Given the description of an element on the screen output the (x, y) to click on. 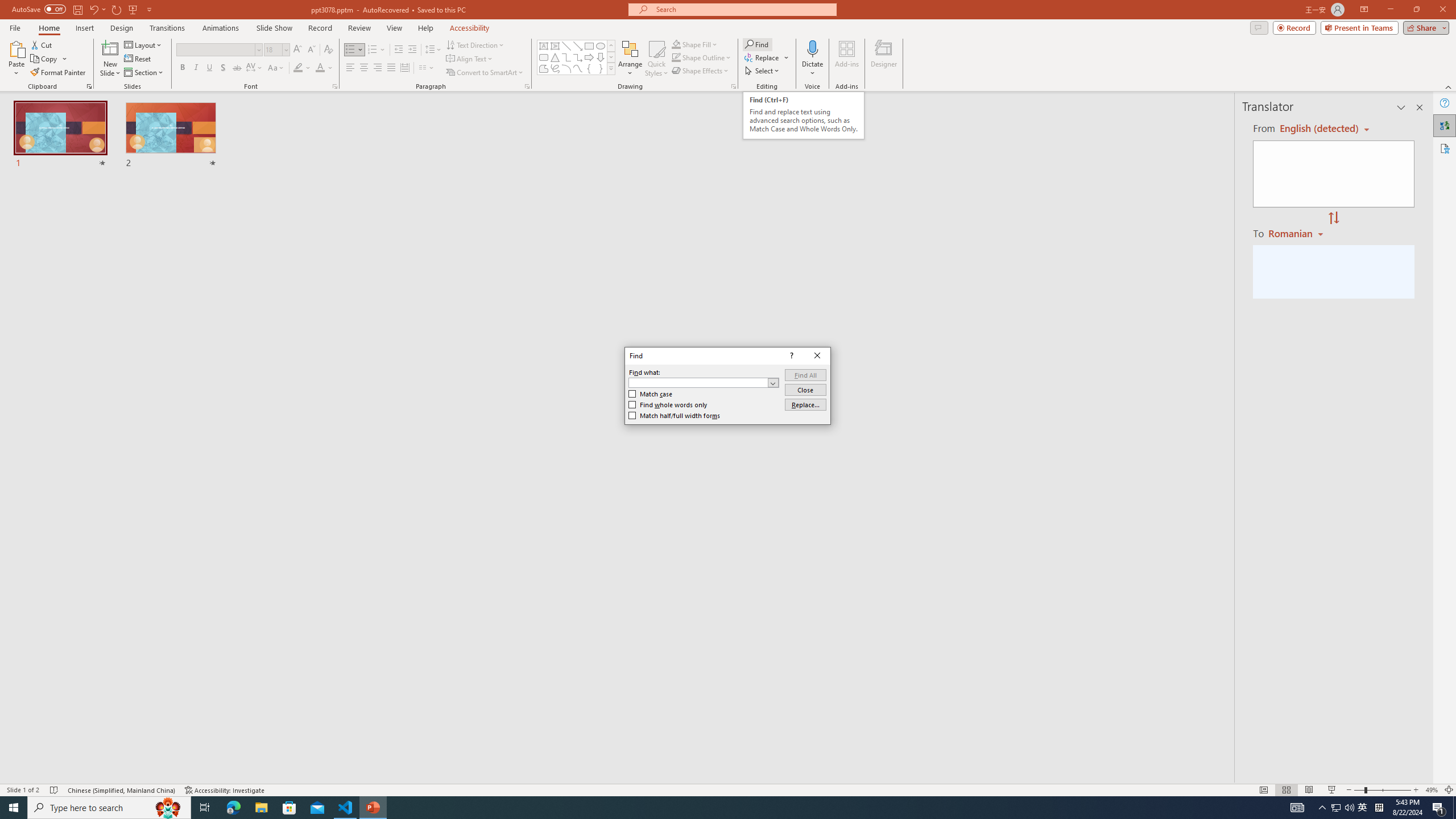
Match case (650, 393)
